Given the description of an element on the screen output the (x, y) to click on. 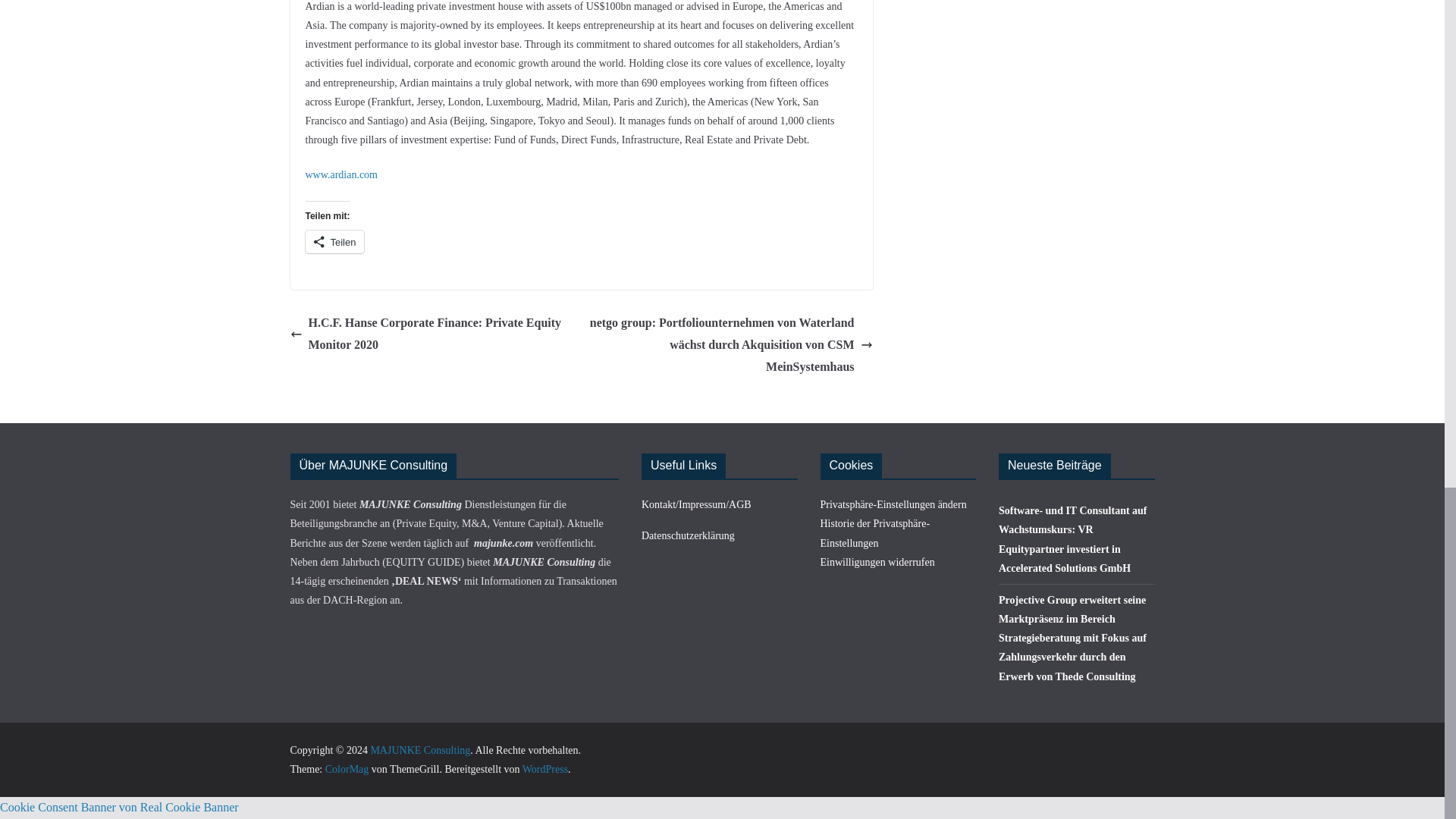
ColorMag (346, 768)
www.ardian.com (340, 174)
WordPress (544, 768)
MAJUNKE Consulting (419, 749)
Cookie Consent Banner von Real Cookie Banner (119, 807)
MAJUNKE Consulting (419, 749)
Einwilligungen widerrufen (877, 562)
Teilen (334, 241)
ColorMag (346, 768)
WordPress (544, 768)
H.C.F. Hanse Corporate Finance: Private Equity Monitor 2020 (431, 334)
